Given the description of an element on the screen output the (x, y) to click on. 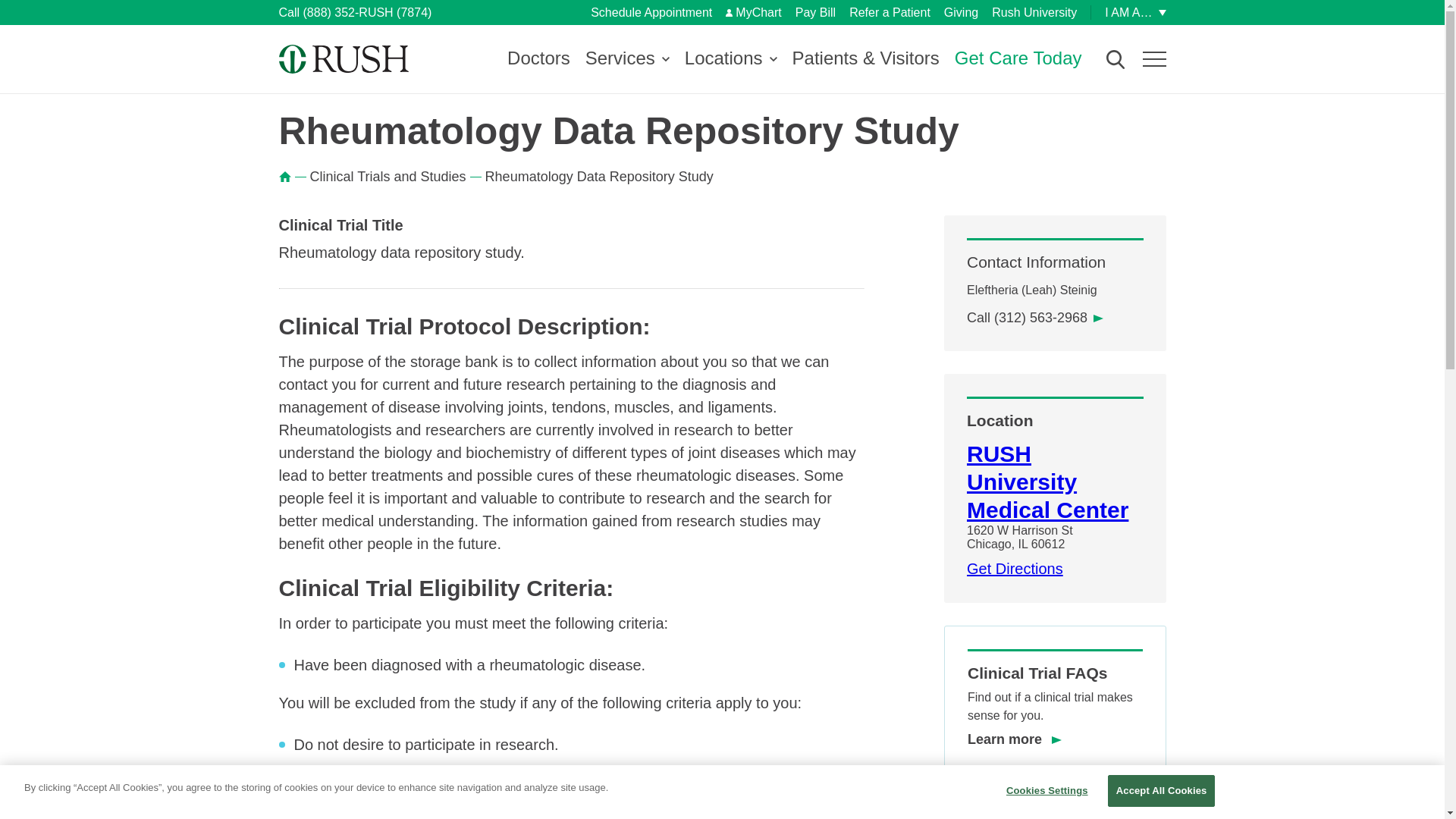
Schedule Appointment (651, 11)
Pay Bill (814, 11)
MyChart (752, 11)
Refer a Patient (889, 11)
Rush University (1034, 11)
Giving (960, 11)
